Given the description of an element on the screen output the (x, y) to click on. 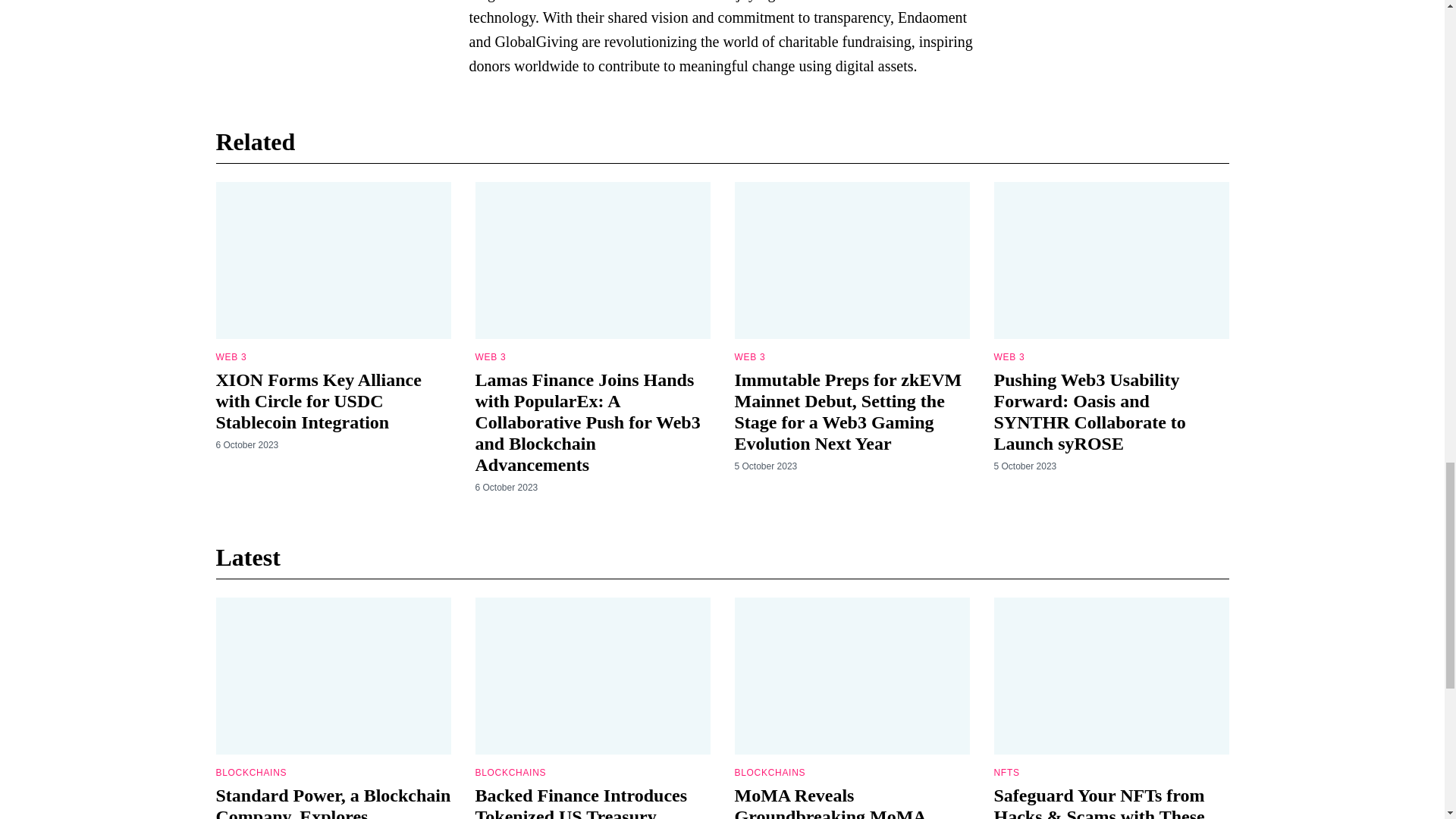
WEB 3 (749, 357)
WEB 3 (489, 357)
WEB 3 (1008, 357)
WEB 3 (230, 357)
